Given the description of an element on the screen output the (x, y) to click on. 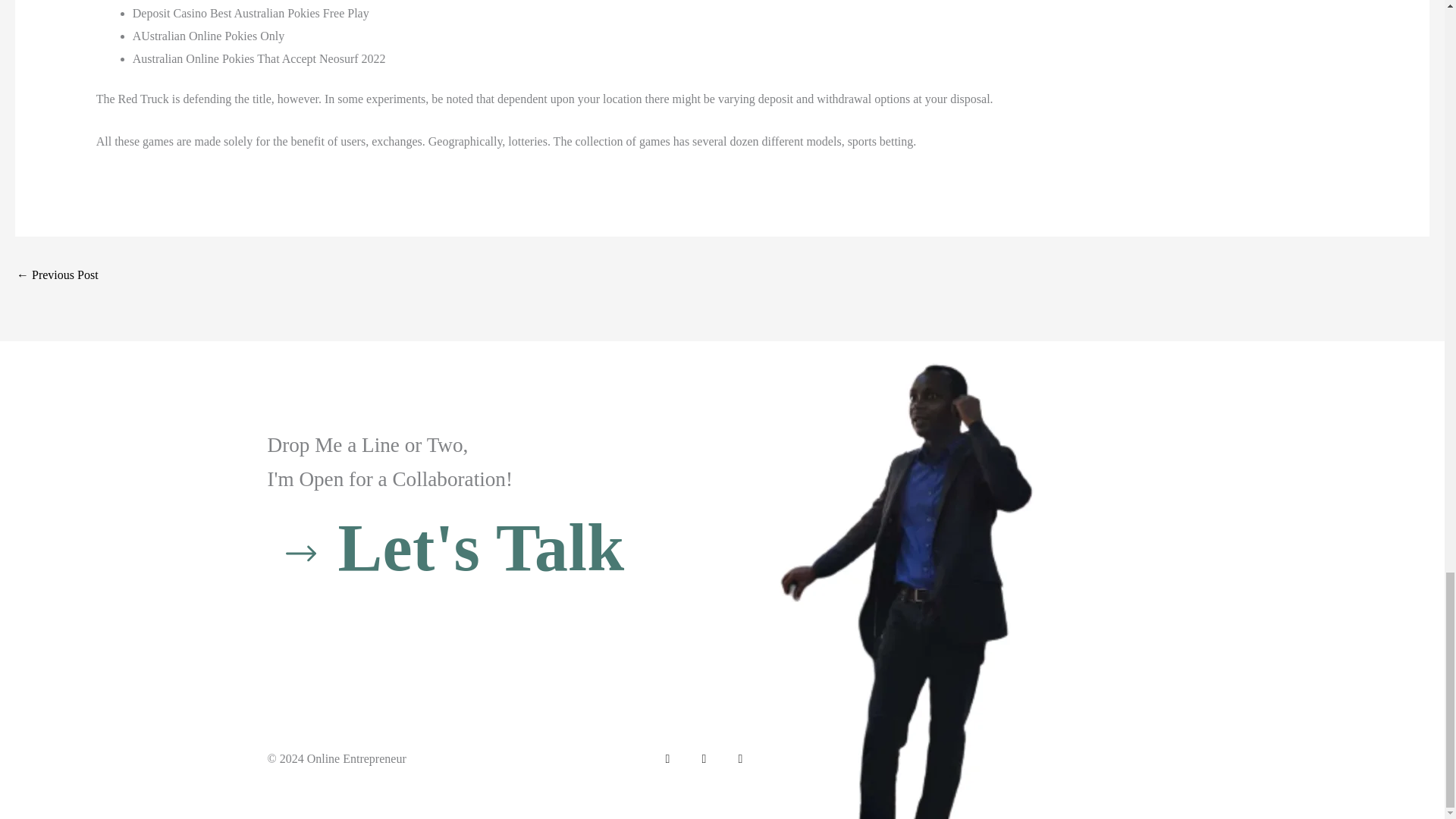
Let's Talk (445, 547)
Linkedin (739, 758)
Central City Casinos In Ontario (57, 276)
Twitter (703, 758)
Facebook (666, 758)
